Given the description of an element on the screen output the (x, y) to click on. 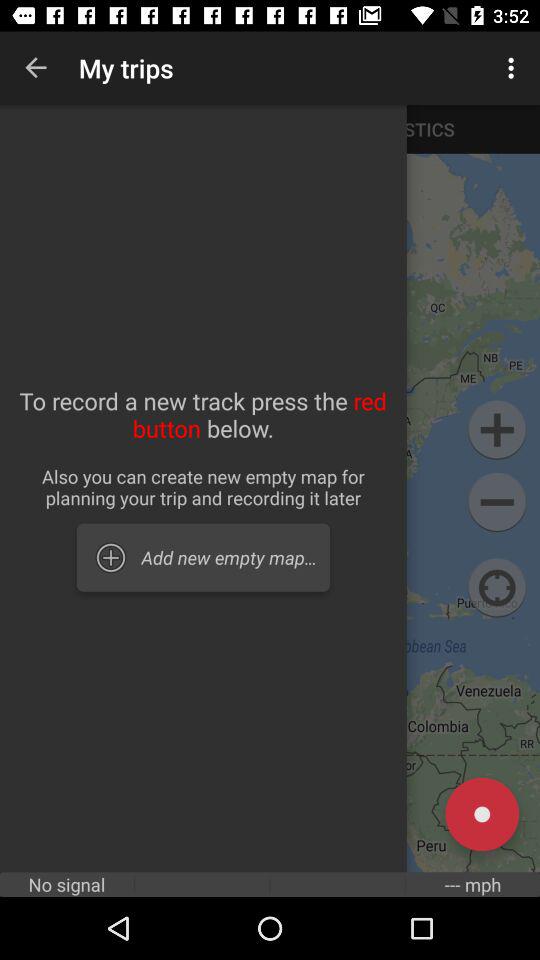
click on the button along with the text add new empty map (203, 558)
click on red colour circle (482, 813)
click on more options icon (514, 68)
